Given the description of an element on the screen output the (x, y) to click on. 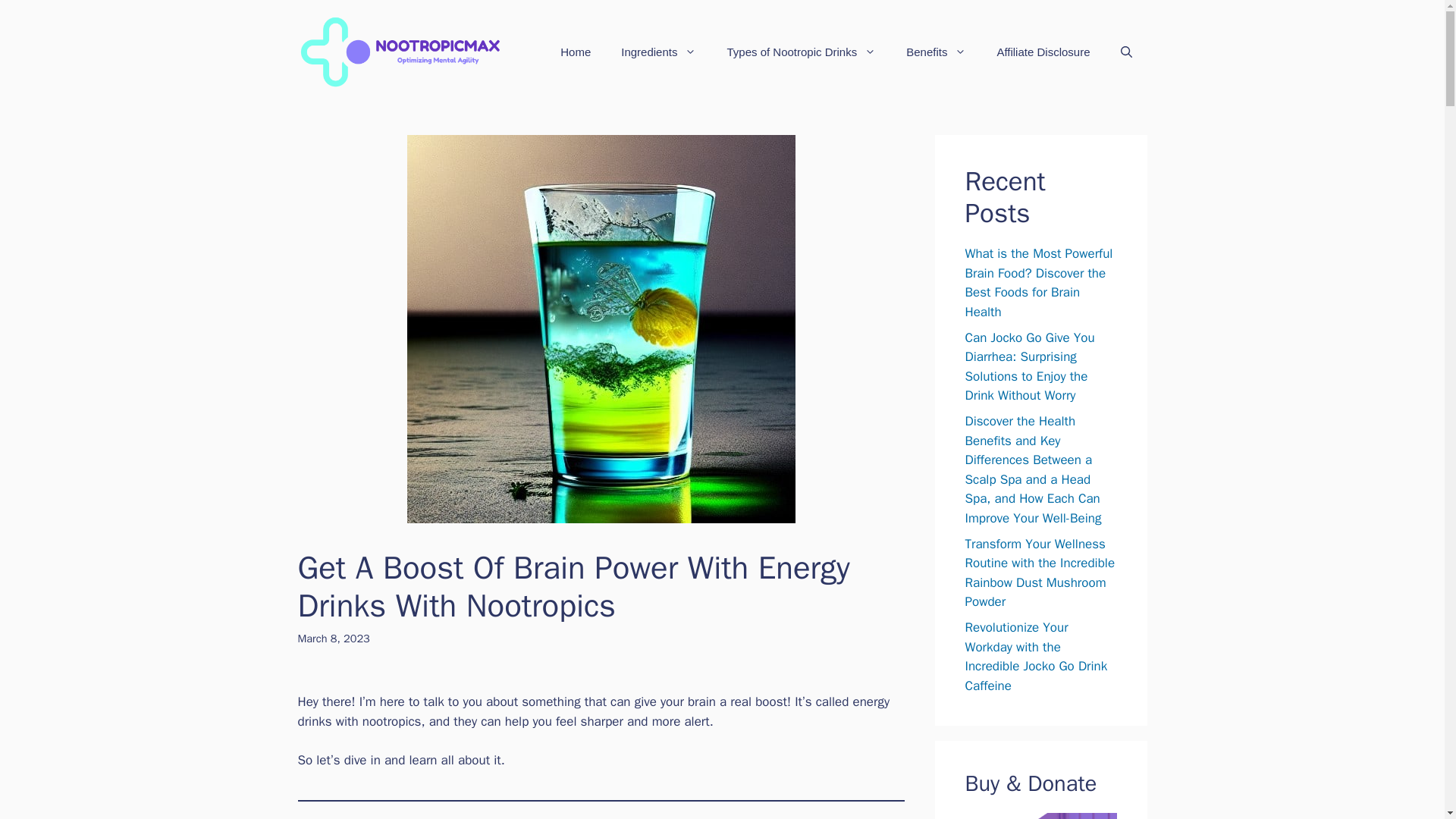
Ingredients (658, 52)
Affiliate Disclosure (1043, 52)
Types of Nootropic Drinks (801, 52)
Home (574, 52)
Benefits (936, 52)
